Given the description of an element on the screen output the (x, y) to click on. 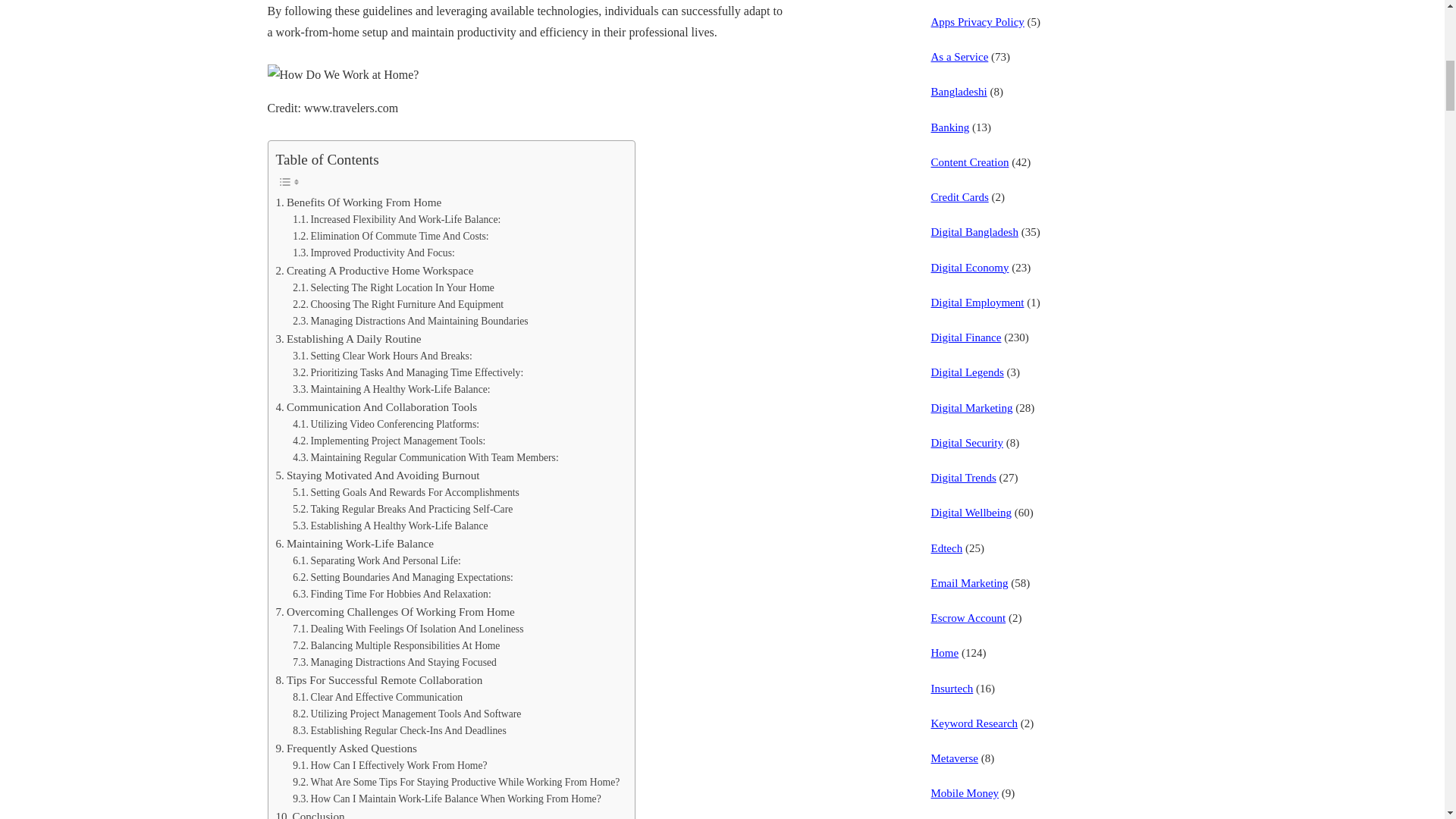
Maintaining Regular Communication With Team Members: (424, 457)
Improved Productivity And Focus: (373, 252)
Increased Flexibility And Work-Life Balance: (396, 219)
Setting Clear Work Hours And Breaks: (381, 356)
Choosing The Right Furniture And Equipment (397, 304)
Benefits Of Working From Home (359, 202)
Elimination Of Commute Time And Costs: (389, 236)
Communication And Collaboration Tools (376, 407)
Managing Distractions And Maintaining Boundaries (409, 321)
Implementing Project Management Tools: (388, 441)
Selecting The Right Location In Your Home (393, 288)
Utilizing Video Conferencing Platforms: (385, 424)
Creating A Productive Home Workspace (375, 270)
Maintaining A Healthy Work-Life Balance: (390, 389)
Prioritizing Tasks And Managing Time Effectively: (407, 372)
